Given the description of an element on the screen output the (x, y) to click on. 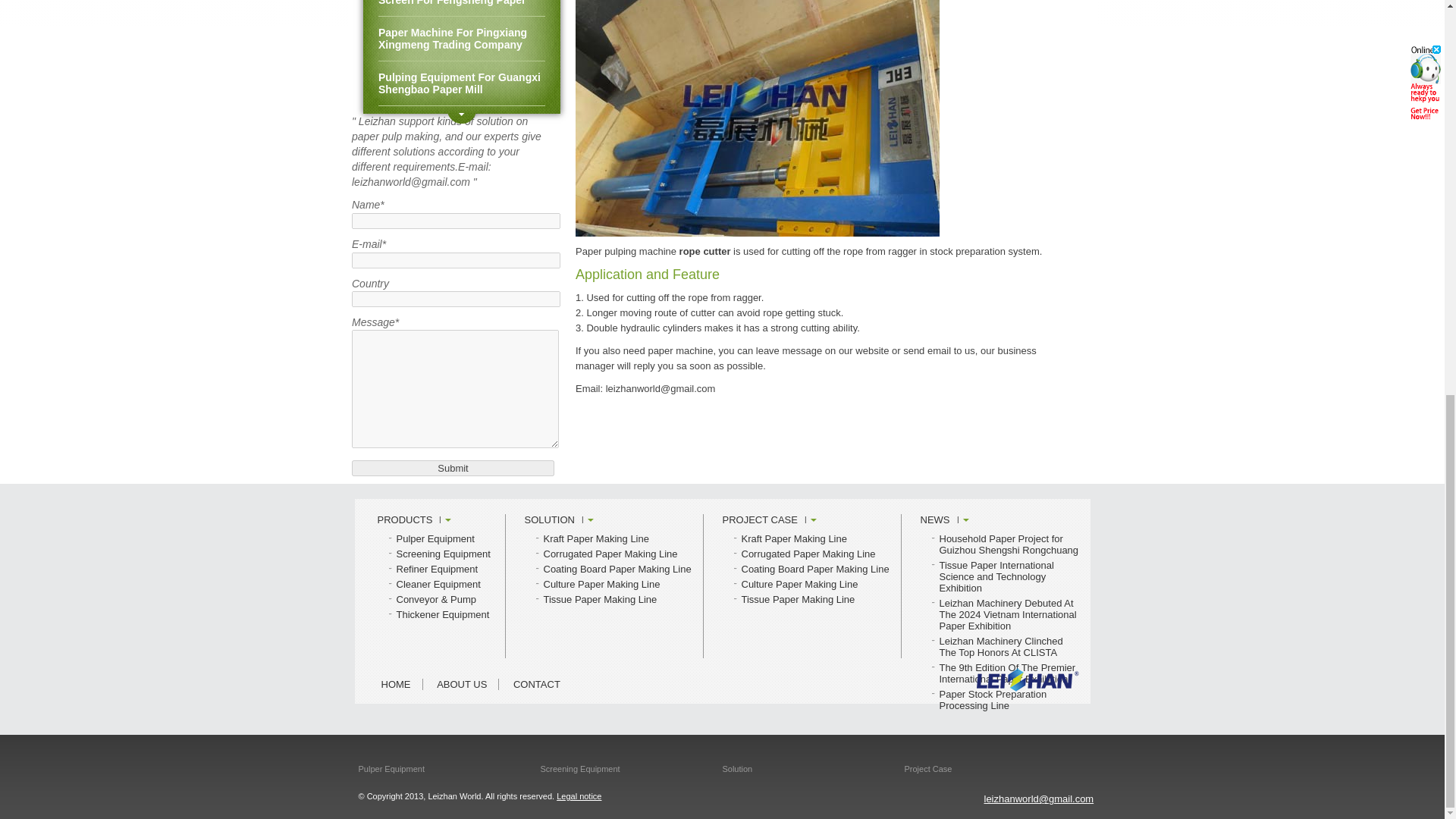
Submit (453, 467)
Pulping Equipment For Guangxi Shengbao Paper Mill (461, 83)
Pulper Equipment (435, 538)
Submit (453, 467)
PRODUCTS (414, 519)
Pulping Machine Vibrating Screen For Fengsheng Paper (461, 8)
Paper Machine For Pingxiang Xingmeng Trading Company (461, 38)
